Given the description of an element on the screen output the (x, y) to click on. 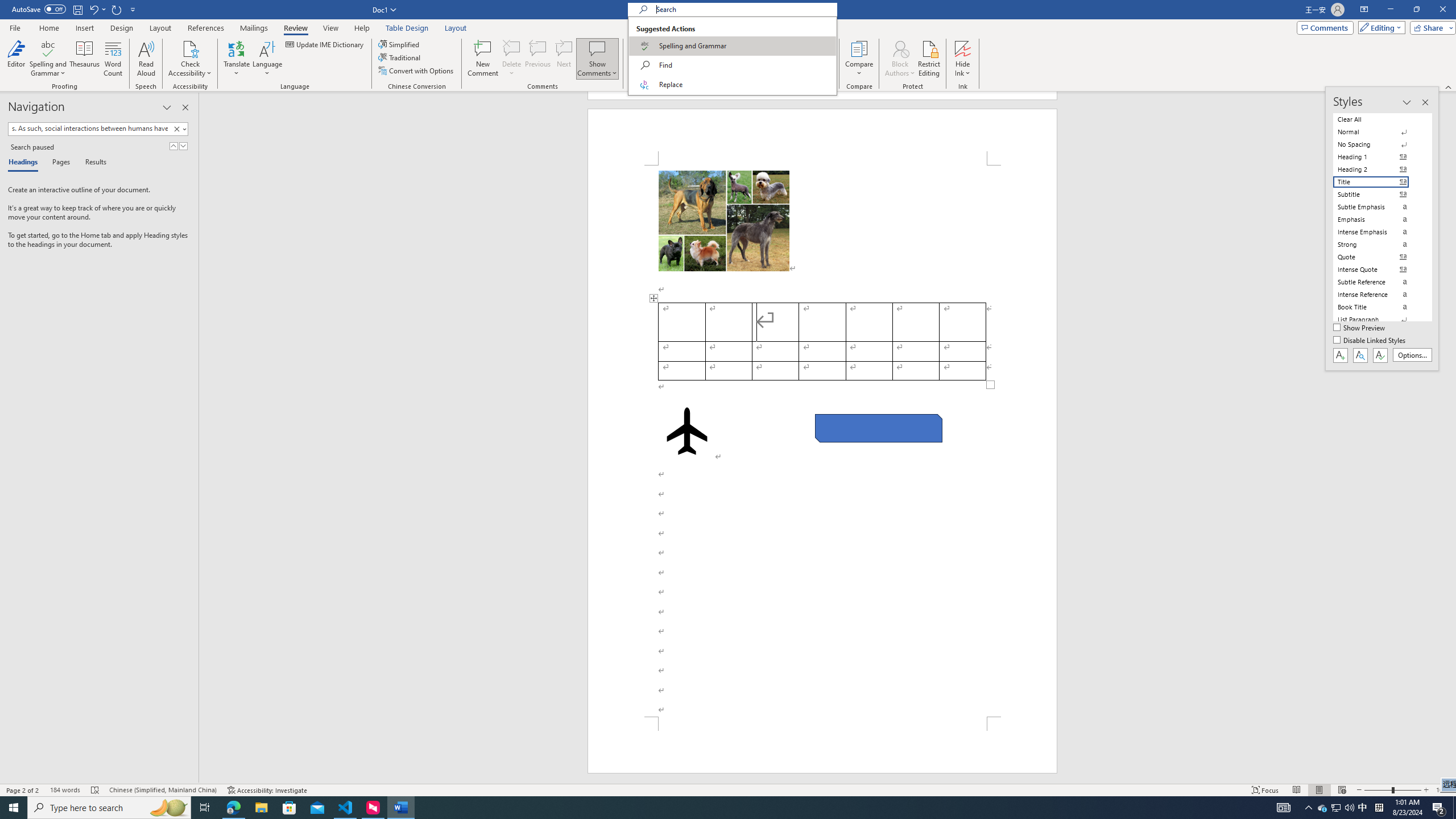
Task Pane Options (167, 107)
Hide Ink (962, 48)
Close pane (185, 107)
Pages (59, 162)
Class: NetUIButton (1380, 355)
Rectangle: Diagonal Corners Snipped 2 (878, 428)
Delete (511, 58)
Help (361, 28)
Spelling and Grammar (48, 48)
Show Preview (1360, 328)
Subtitle (1377, 194)
No Spacing (1377, 144)
Heading 1 (1377, 156)
